Given the description of an element on the screen output the (x, y) to click on. 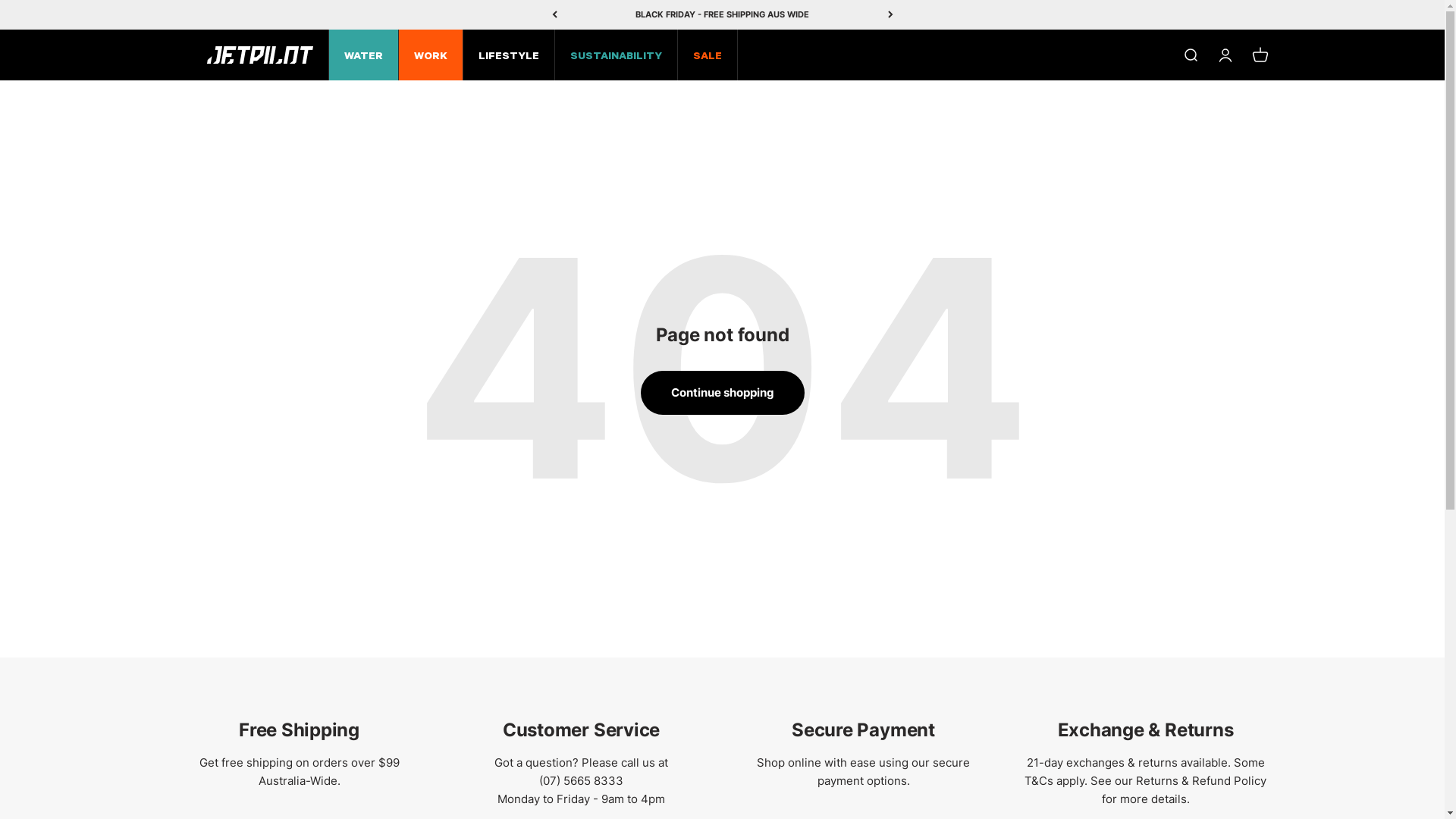
LIFESTYLE Element type: text (507, 54)
SALE Element type: text (707, 54)
WORK Element type: text (430, 54)
SUSTAINABILITY Element type: text (616, 54)
Open search Element type: text (1189, 54)
Open account page Element type: text (1224, 54)
WATER Element type: text (363, 54)
Open cart
0 Element type: text (1259, 54)
Continue shopping Element type: text (721, 392)
